Given the description of an element on the screen output the (x, y) to click on. 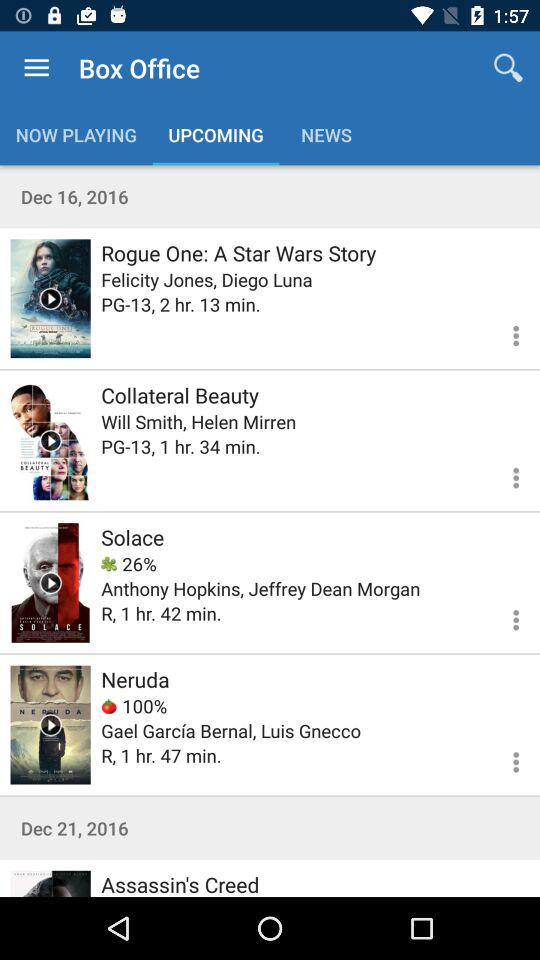
play video icon (50, 582)
